Given the description of an element on the screen output the (x, y) to click on. 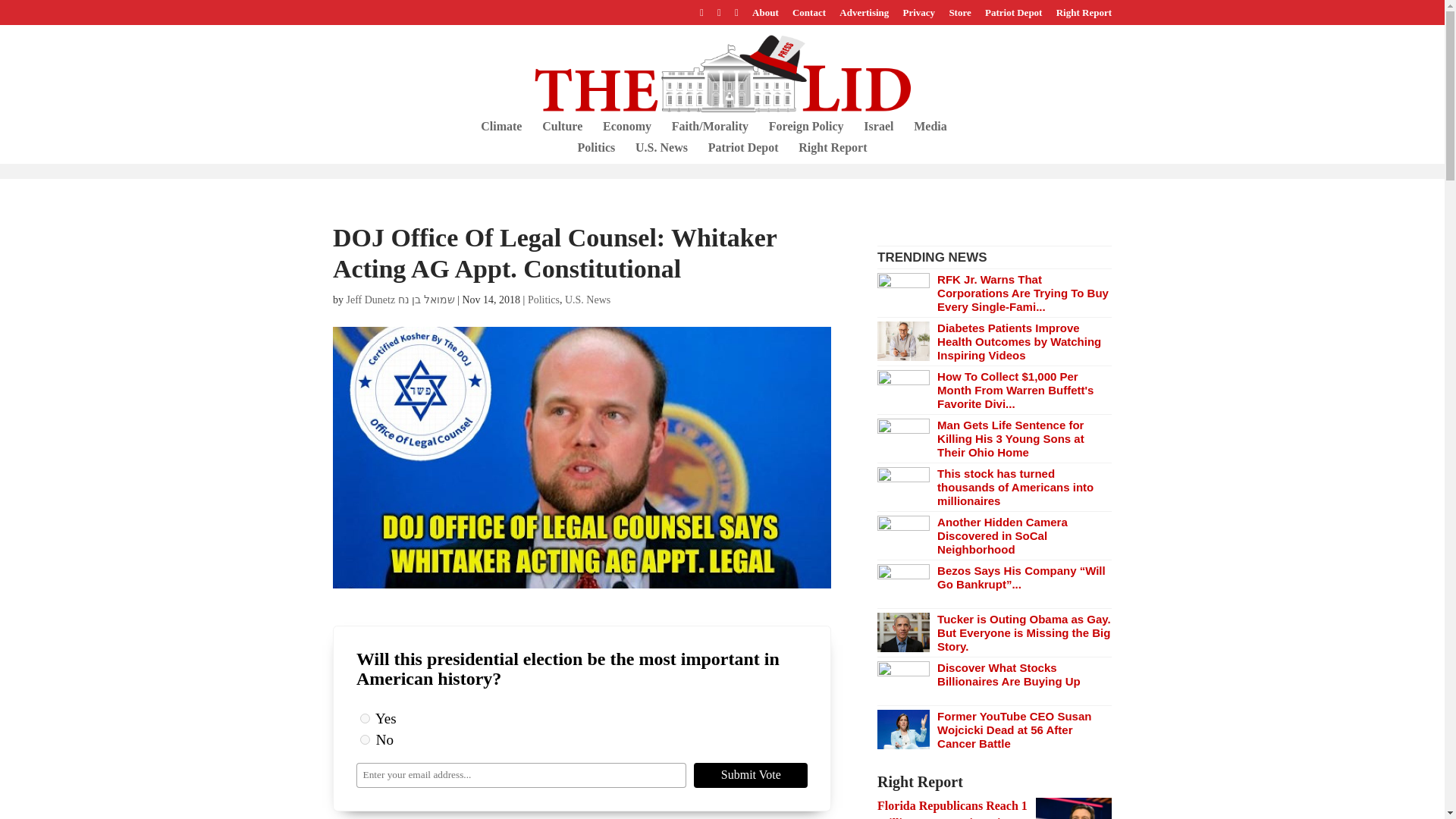
Israel (878, 131)
Privacy (919, 16)
Politics (596, 152)
Right Report (1084, 16)
Patriot Depot (1013, 16)
Foreign Policy (806, 131)
Economy (626, 131)
Culture (561, 131)
30 (364, 739)
Media (930, 131)
